Given the description of an element on the screen output the (x, y) to click on. 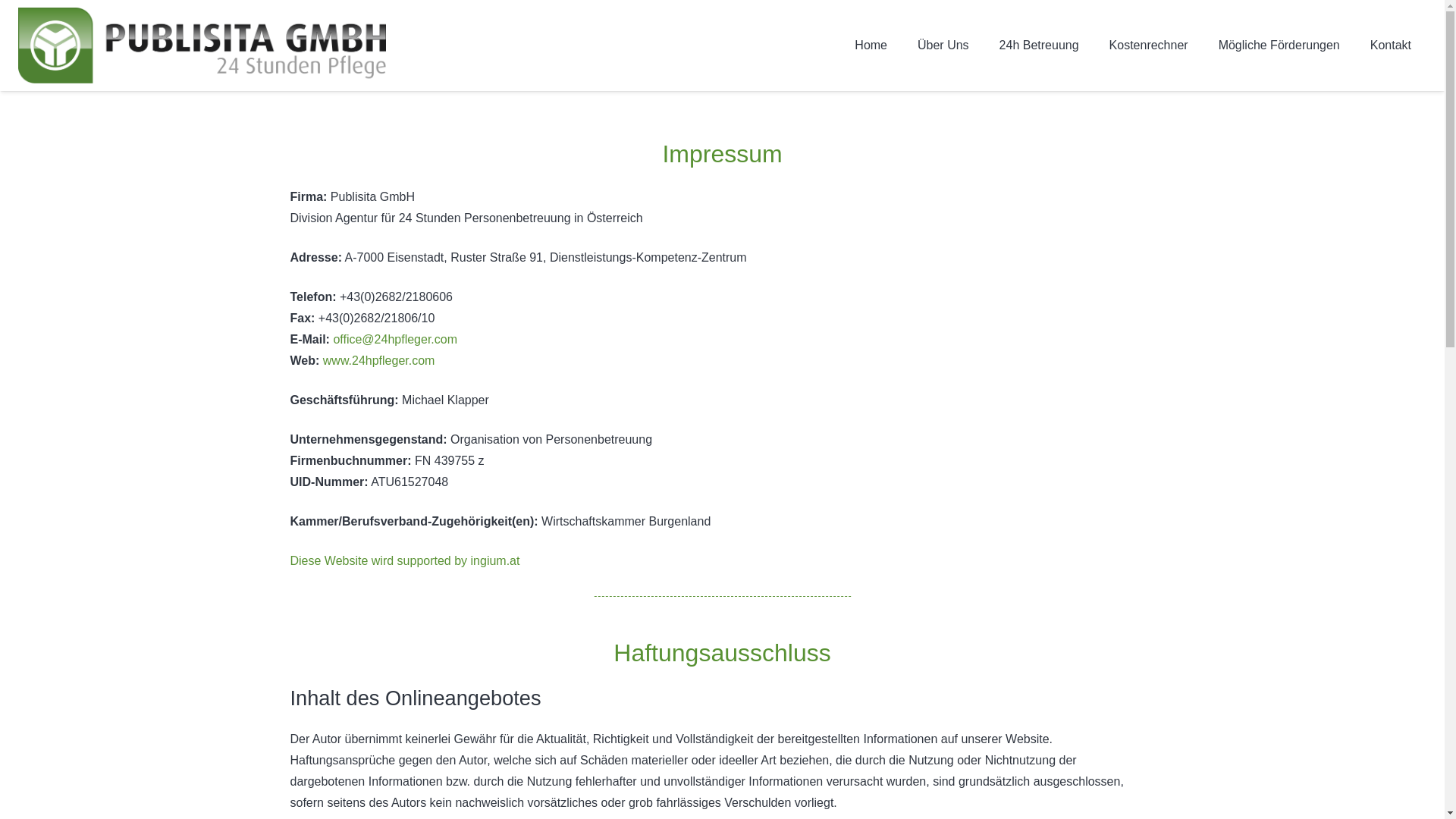
office@24hpfleger.com Element type: text (394, 338)
24h Betreuung Element type: text (1039, 45)
Kontakt Element type: text (1390, 45)
Home Element type: text (870, 45)
Kostenrechner Element type: text (1148, 45)
Diese Website wird supported by ingium.at Element type: text (404, 560)
www.24hpfleger.com Element type: text (379, 360)
